Given the description of an element on the screen output the (x, y) to click on. 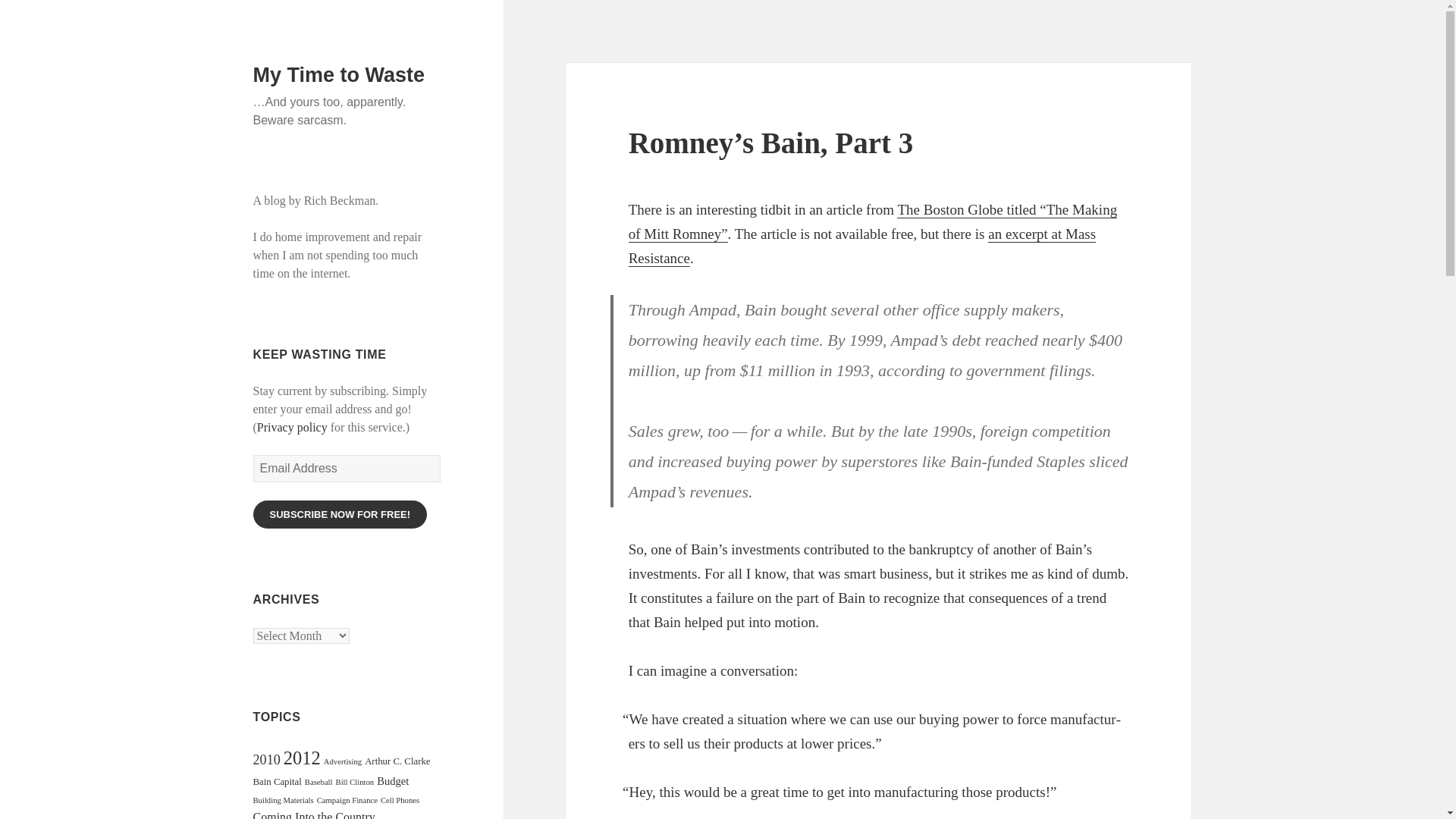
Bain Capital (277, 781)
Building Materials (283, 800)
Campaign Finance (347, 800)
Baseball (318, 782)
Bill Clinton (355, 782)
Arthur C. Clarke (397, 760)
Privacy policy (292, 427)
Cell Phones (399, 800)
2012 (301, 757)
SUBSCRIBE NOW FOR FREE! (340, 514)
